Given the description of an element on the screen output the (x, y) to click on. 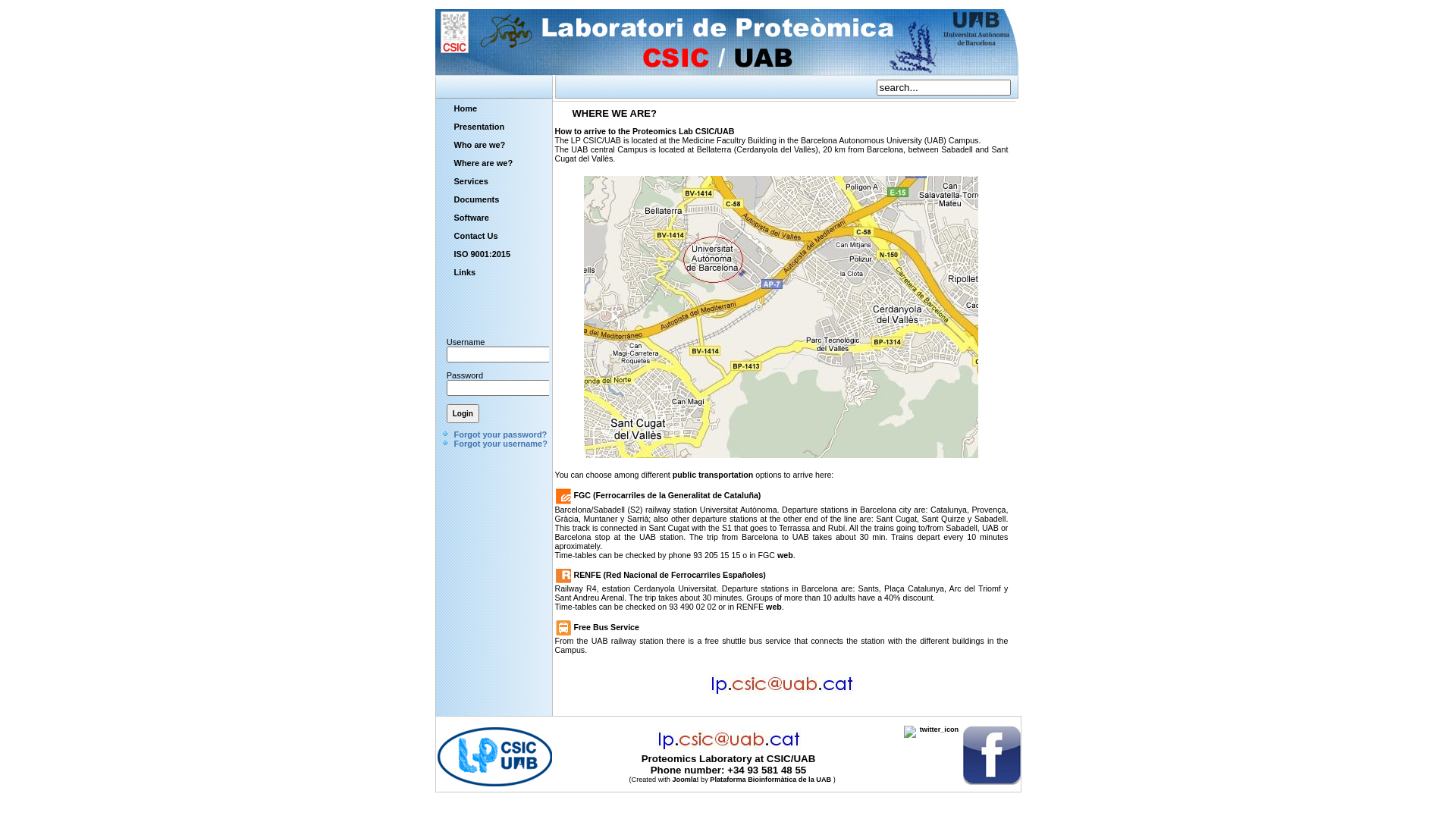
Click to view a detailed map in Google Maps... Element type: hover (781, 458)
Documents Element type: text (477, 199)
Forgot your password? Element type: text (499, 434)
Where are we? Element type: text (477, 162)
ISO 9001:2015 Element type: text (477, 253)
Joomla! Element type: text (684, 779)
Links Element type: text (477, 271)
Contact Us Element type: text (477, 235)
Presentation Element type: text (477, 126)
Services Element type: text (477, 180)
Home Element type: text (477, 108)
Who are we? Element type: text (477, 144)
Login Element type: text (462, 413)
web Element type: text (785, 554)
Forgot your username? Element type: text (499, 443)
web Element type: text (773, 606)
Software Element type: text (477, 217)
